Given the description of an element on the screen output the (x, y) to click on. 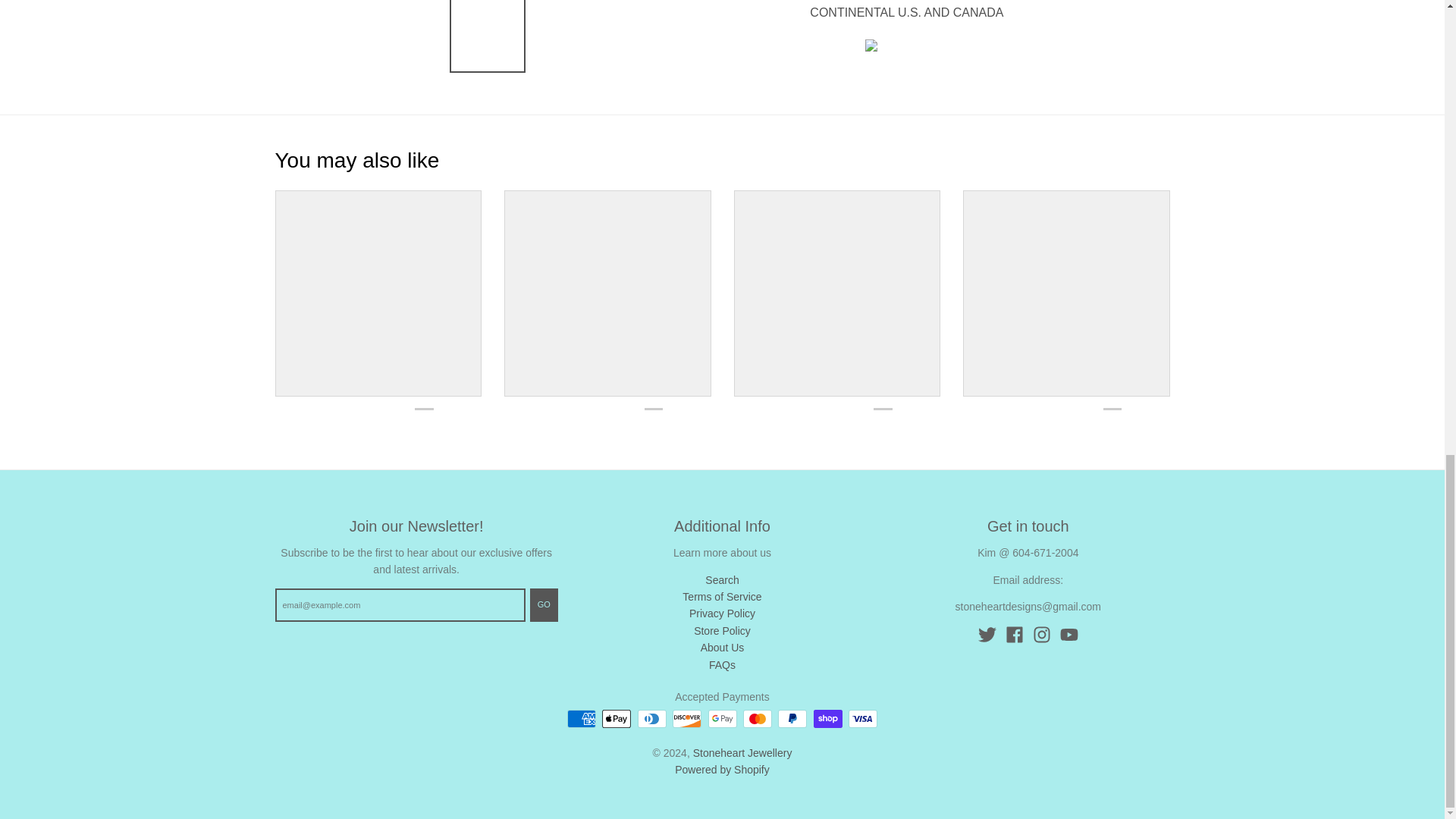
Instagram - Stoneheart Jewellery (1041, 634)
Twitter - Stoneheart Jewellery (986, 634)
YouTube - Stoneheart Jewellery (1068, 634)
Facebook - Stoneheart Jewellery (1014, 634)
